Given the description of an element on the screen output the (x, y) to click on. 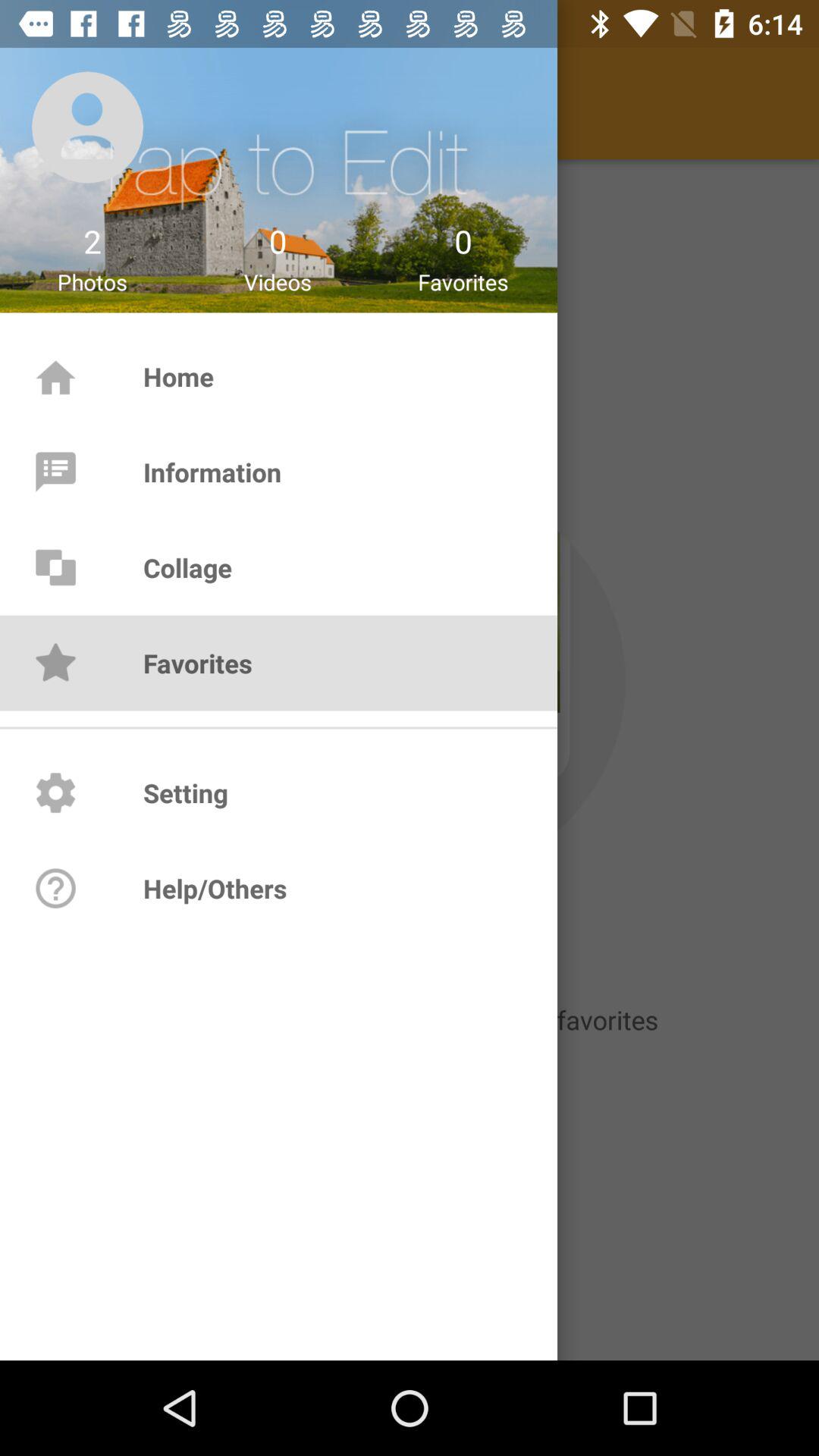
click on the icon above 2 (87, 127)
